Given the description of an element on the screen output the (x, y) to click on. 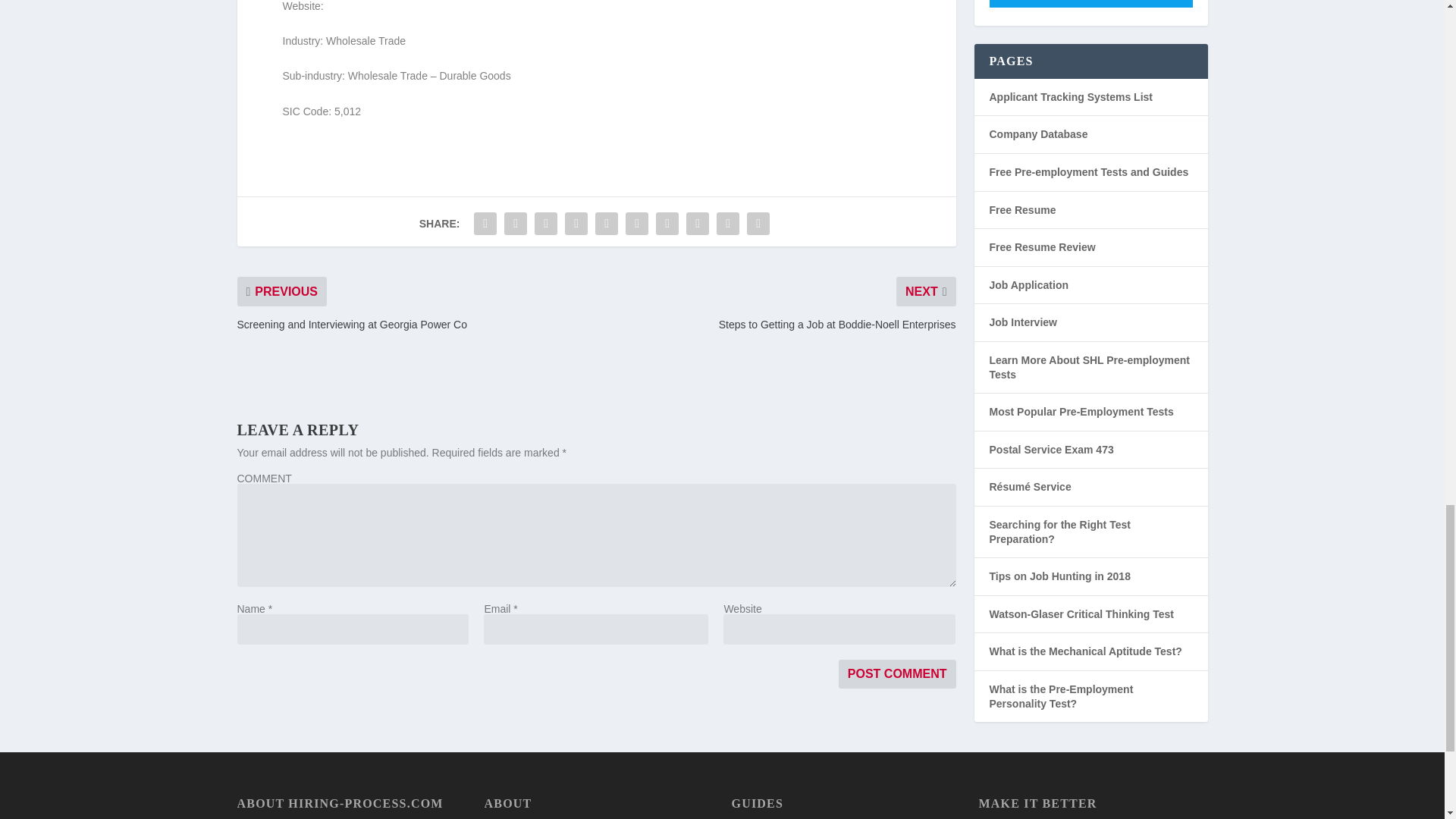
Post Comment (897, 674)
Post Comment (897, 674)
